Given the description of an element on the screen output the (x, y) to click on. 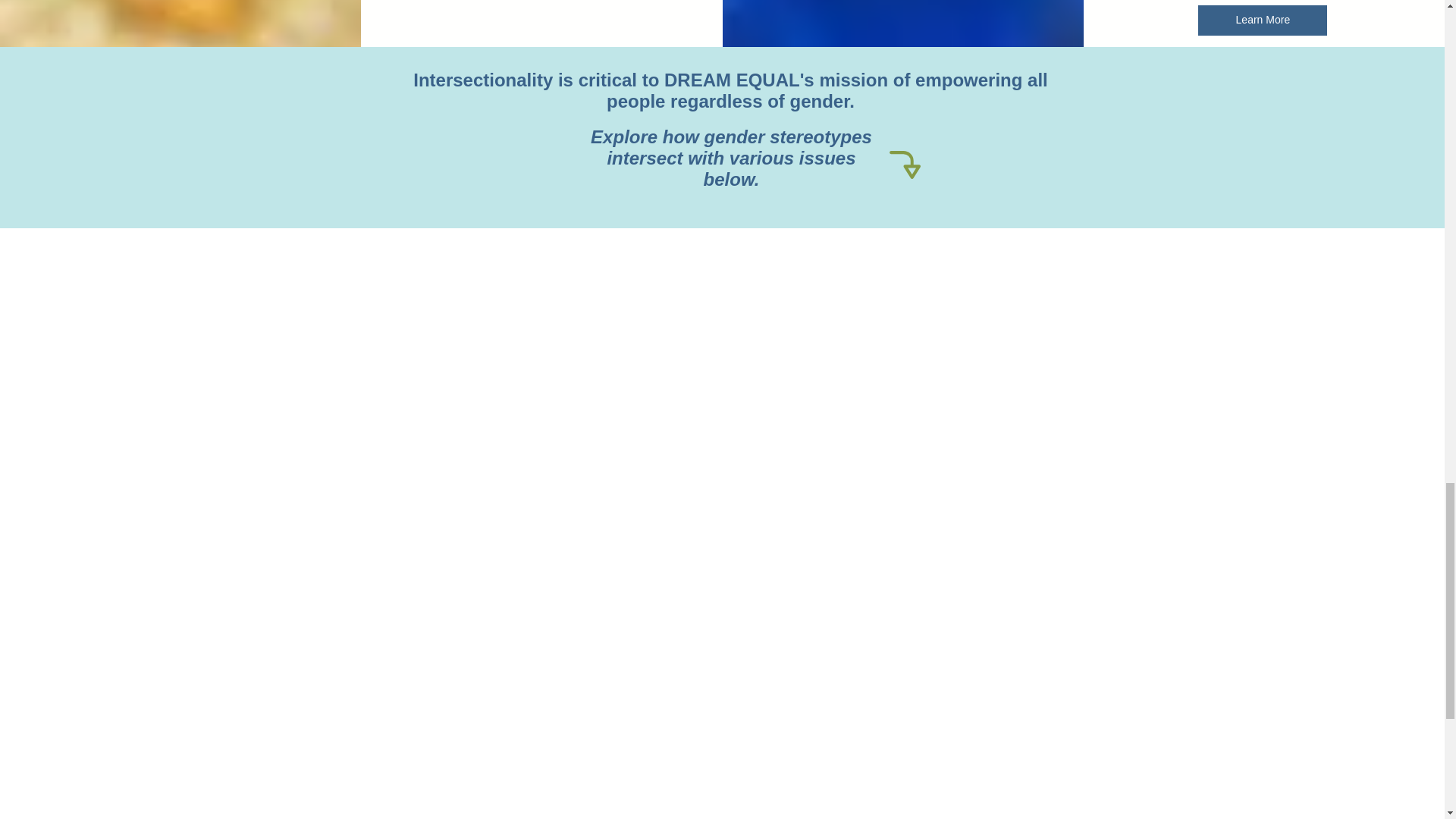
Learn More (1262, 20)
